Given the description of an element on the screen output the (x, y) to click on. 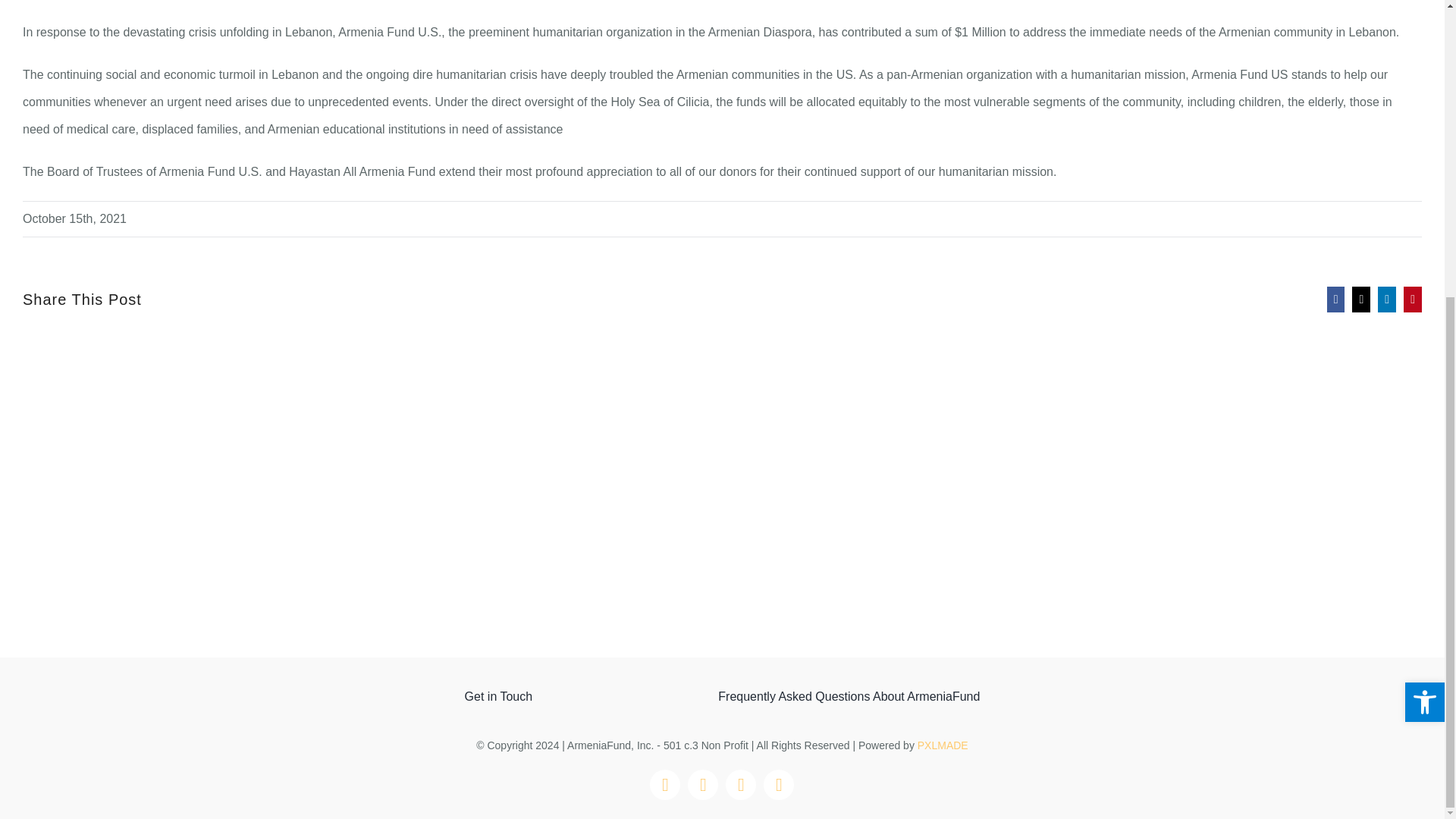
Facebook (664, 784)
Accessibility Tools (1424, 242)
Contact Armenia Fund (498, 696)
